Given the description of an element on the screen output the (x, y) to click on. 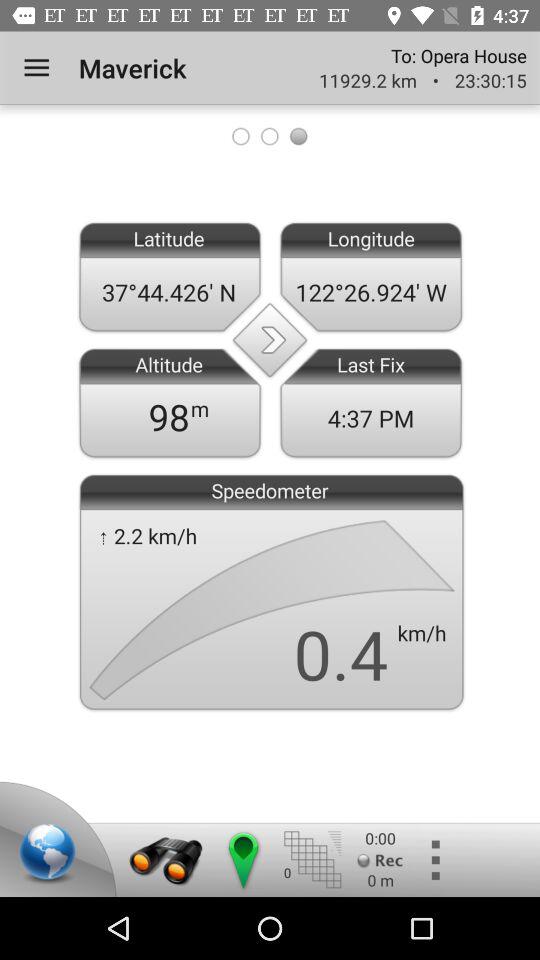
turn on item next to the maverick (36, 68)
